Given the description of an element on the screen output the (x, y) to click on. 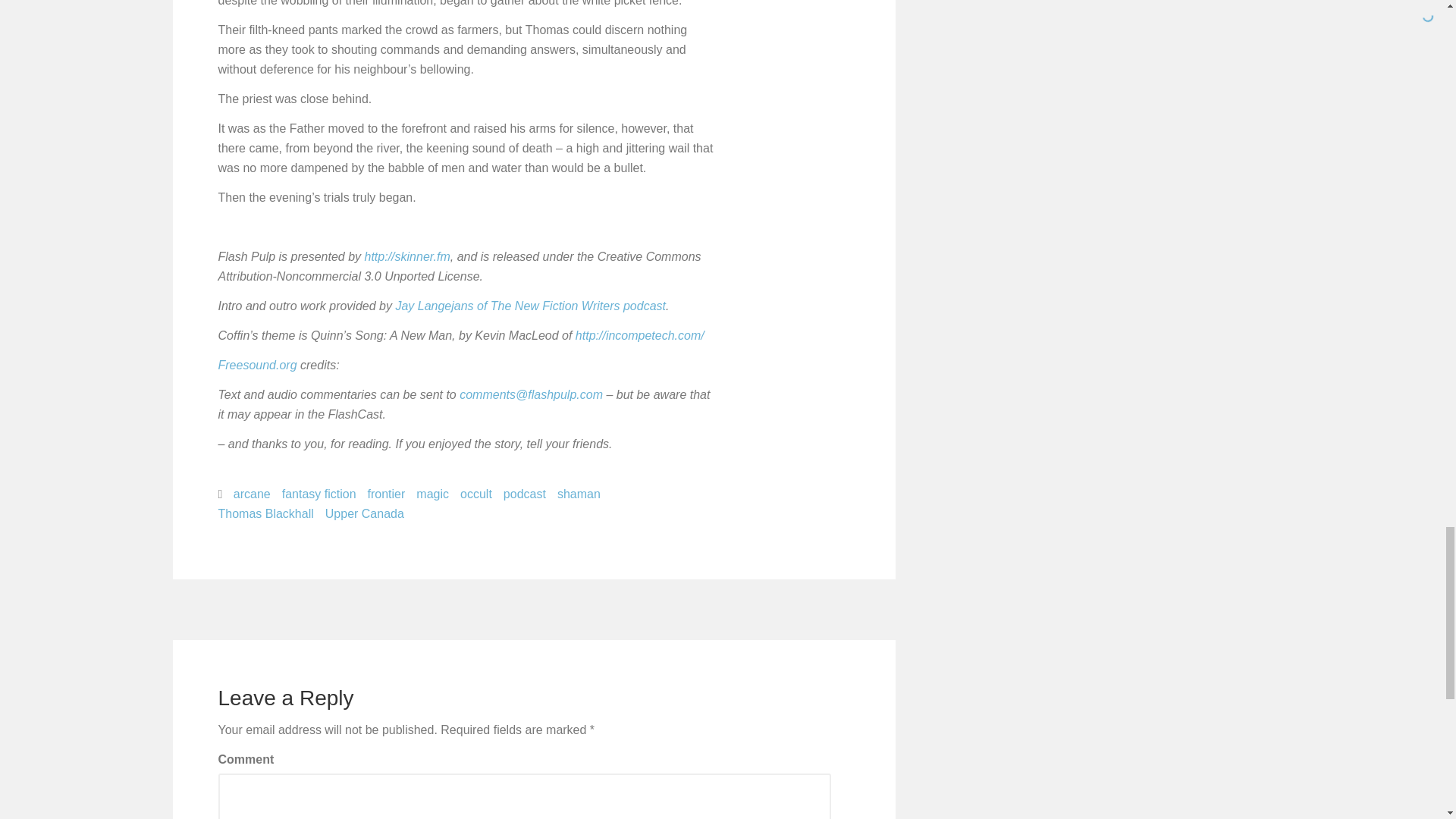
Thomas Blackhall (266, 514)
podcast (524, 494)
shaman (578, 494)
fantasy fiction (319, 494)
Jay Langejans of The New Fiction Writers podcast (529, 305)
magic (432, 494)
frontier (387, 494)
occult (476, 494)
arcane (251, 494)
Upper Canada (364, 514)
Freesound.org (257, 364)
